Given the description of an element on the screen output the (x, y) to click on. 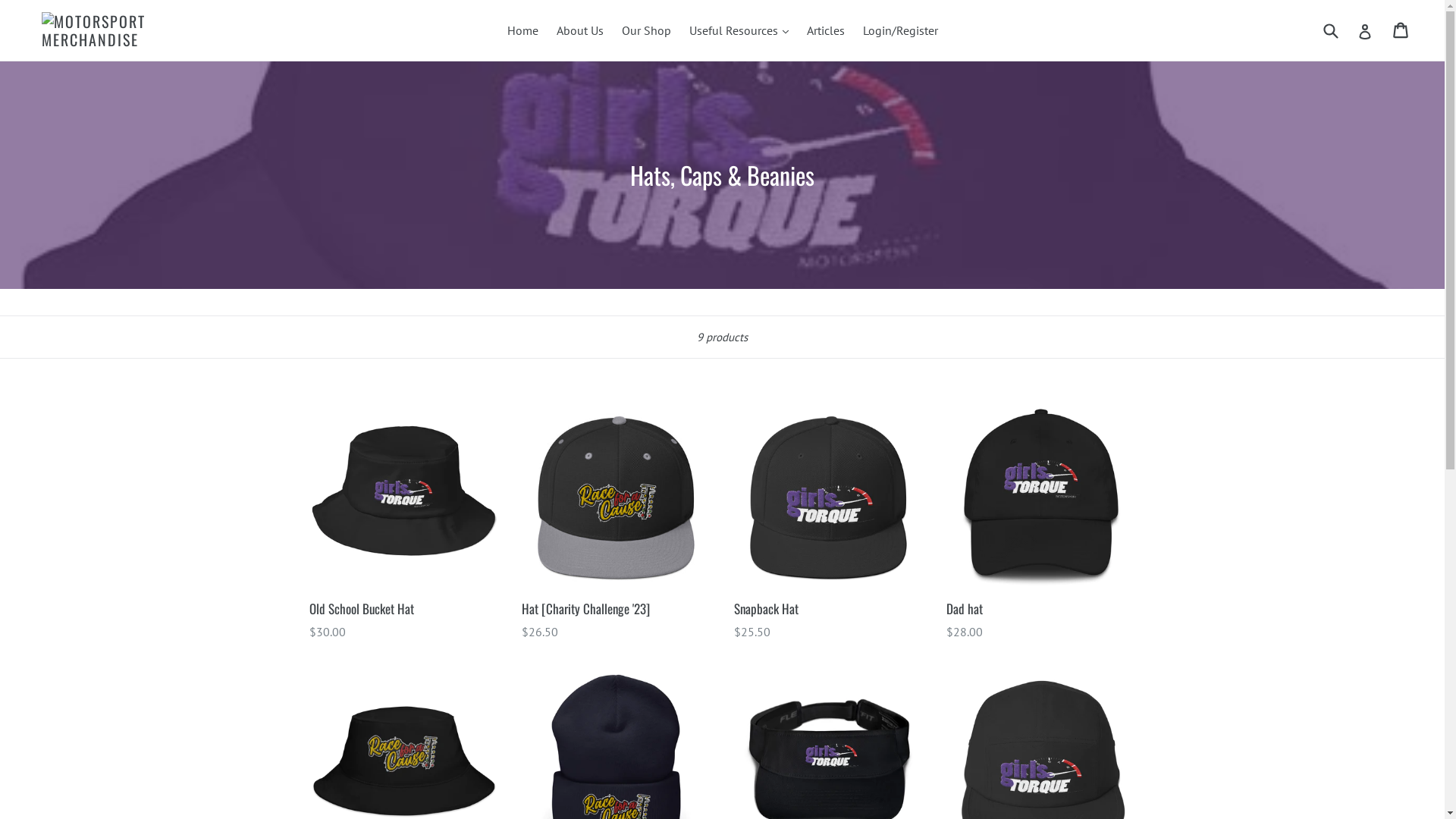
Snapback Hat
Regular price
$25.50 Element type: text (828, 520)
Our Shop Element type: text (646, 29)
About Us Element type: text (580, 29)
Home Element type: text (521, 29)
Cart Element type: text (1401, 29)
Articles Element type: text (825, 29)
Submit Element type: text (1329, 29)
Hat [Charity Challenge '23]
Regular price
$26.50 Element type: text (616, 520)
Old School Bucket Hat
Regular price
$30.00 Element type: text (403, 520)
Log in Element type: text (1364, 30)
Login/Register Element type: text (900, 29)
Dad hat
Regular price
$28.00 Element type: text (1040, 520)
